Given the description of an element on the screen output the (x, y) to click on. 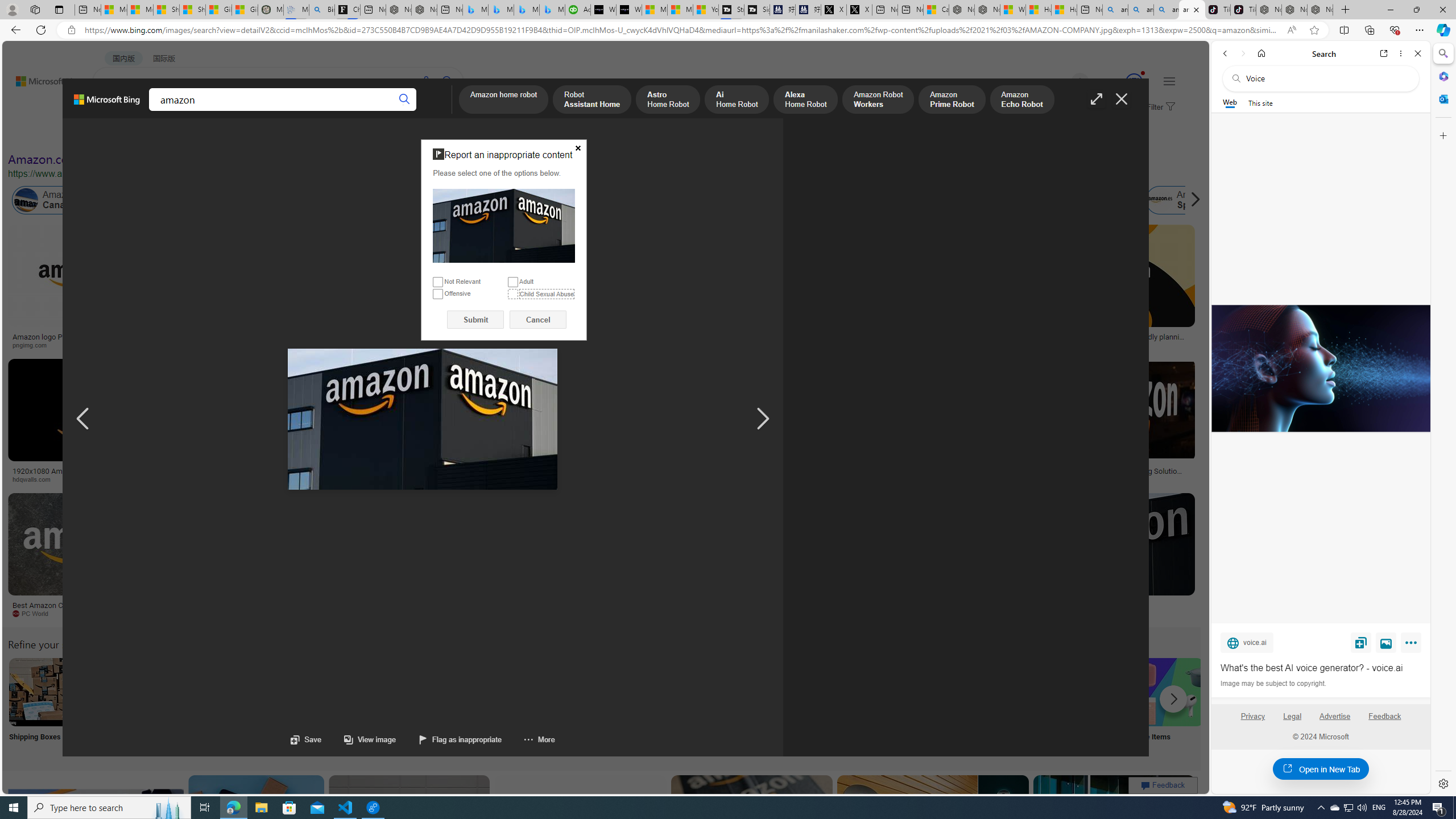
Amazon Online Store Online Store (644, 706)
GOBankingRates (275, 479)
Class: item col (1183, 199)
Amazon Shoes (1103, 199)
More (528, 739)
Amazon Kids (239, 200)
Amazon Prime Robot (951, 100)
Nordace Siena Pro 15 Backpack (1293, 9)
Web scope (1230, 102)
Amazon Online Shopping Search Online Shopping Search (118, 706)
